Given the description of an element on the screen output the (x, y) to click on. 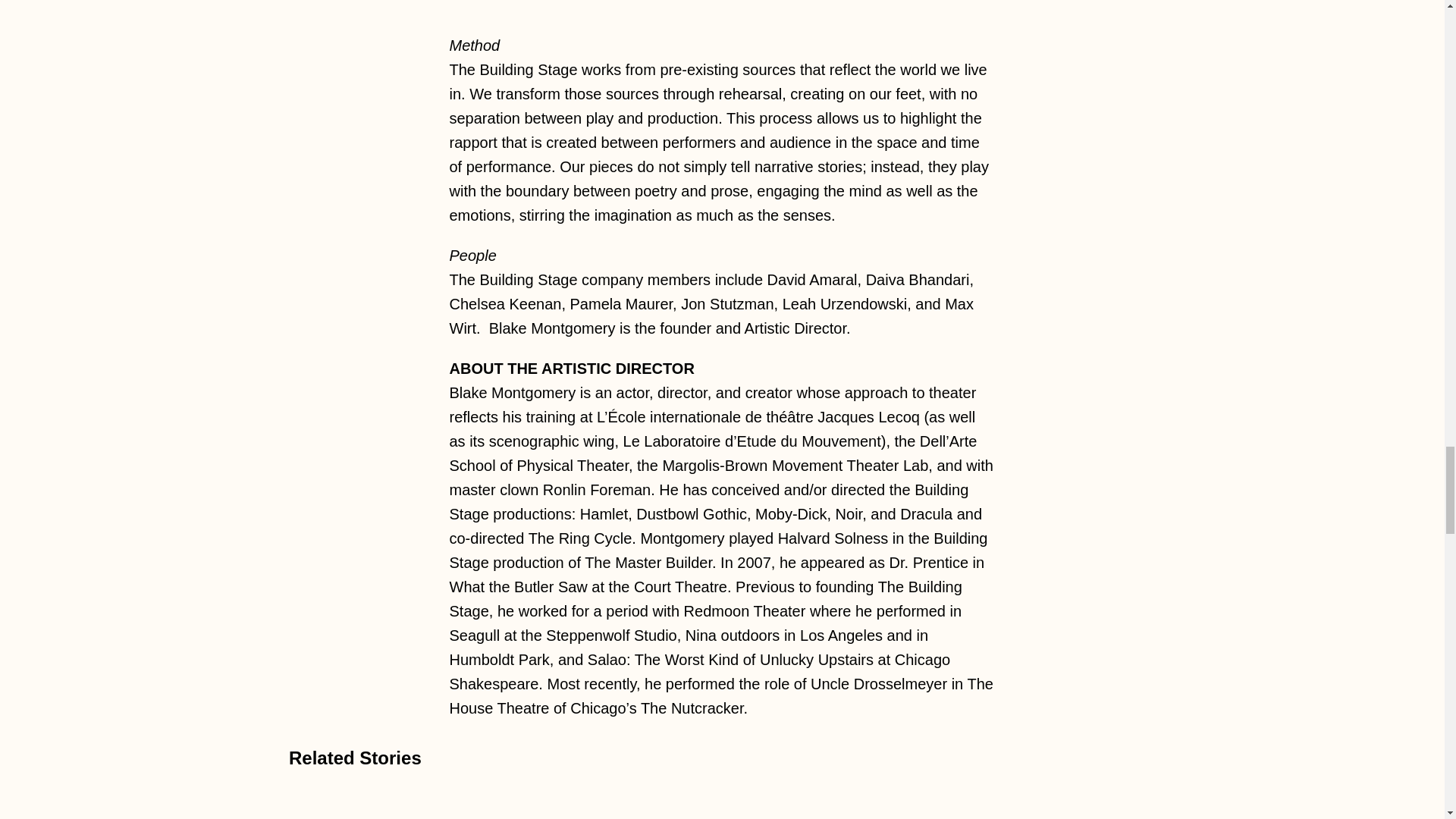
3rd party ad content (722, 5)
